Given the description of an element on the screen output the (x, y) to click on. 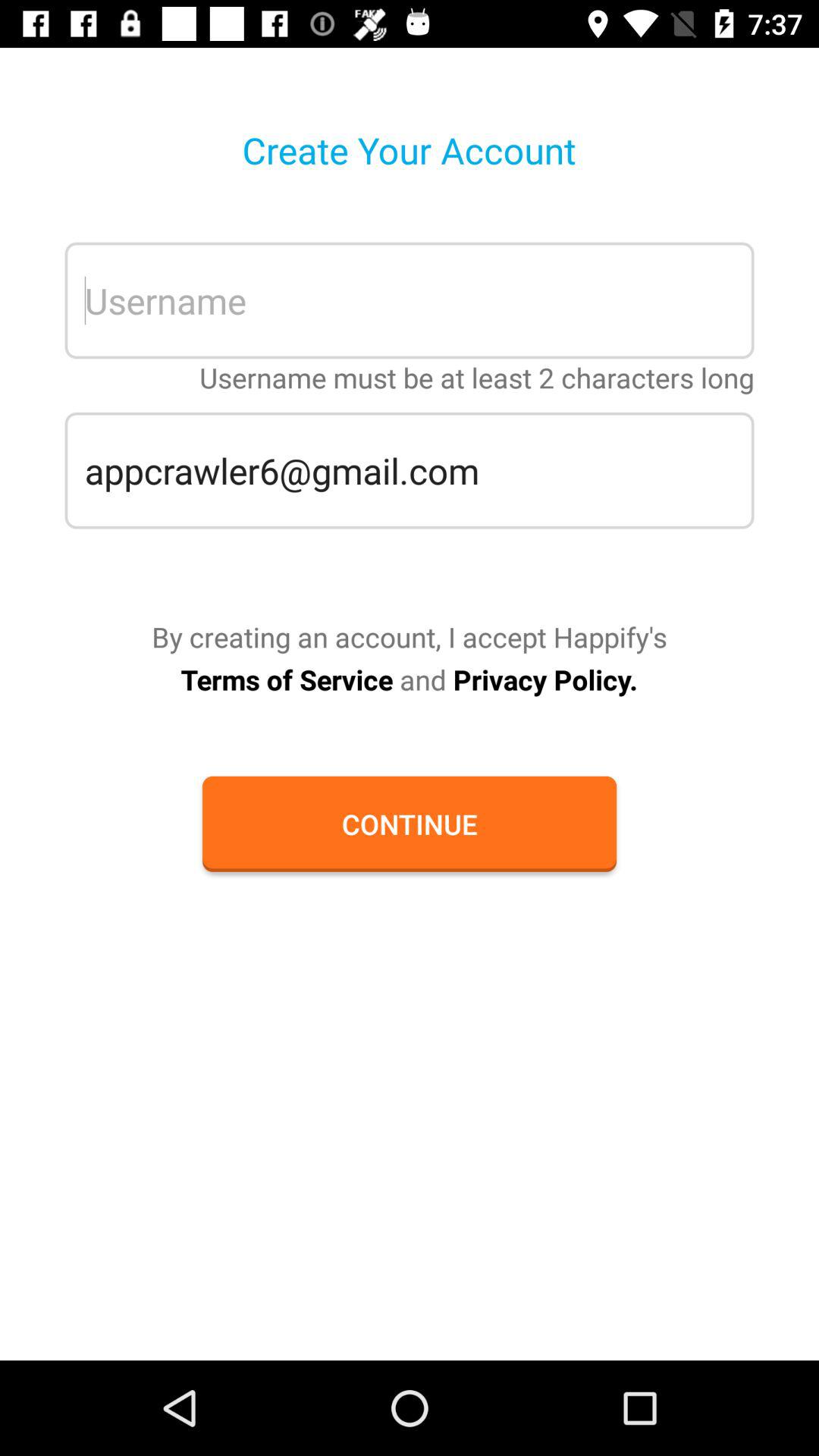
tap icon above by creating an (409, 470)
